Given the description of an element on the screen output the (x, y) to click on. 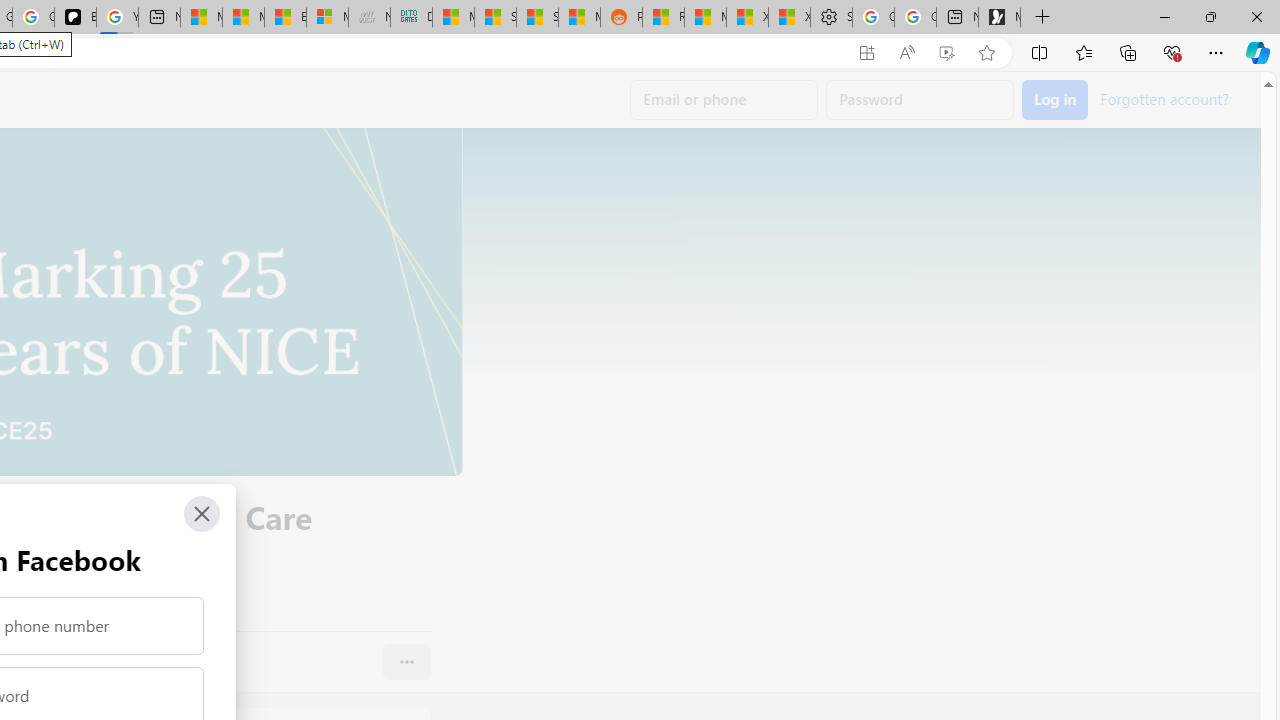
Be Smart | creating Science videos | Patreon (75, 17)
Email or phone (724, 99)
Accessible login button (1055, 99)
Entertainment - MSN (285, 17)
Stocks - MSN (537, 17)
App available. Install Facebook (867, 53)
